Given the description of an element on the screen output the (x, y) to click on. 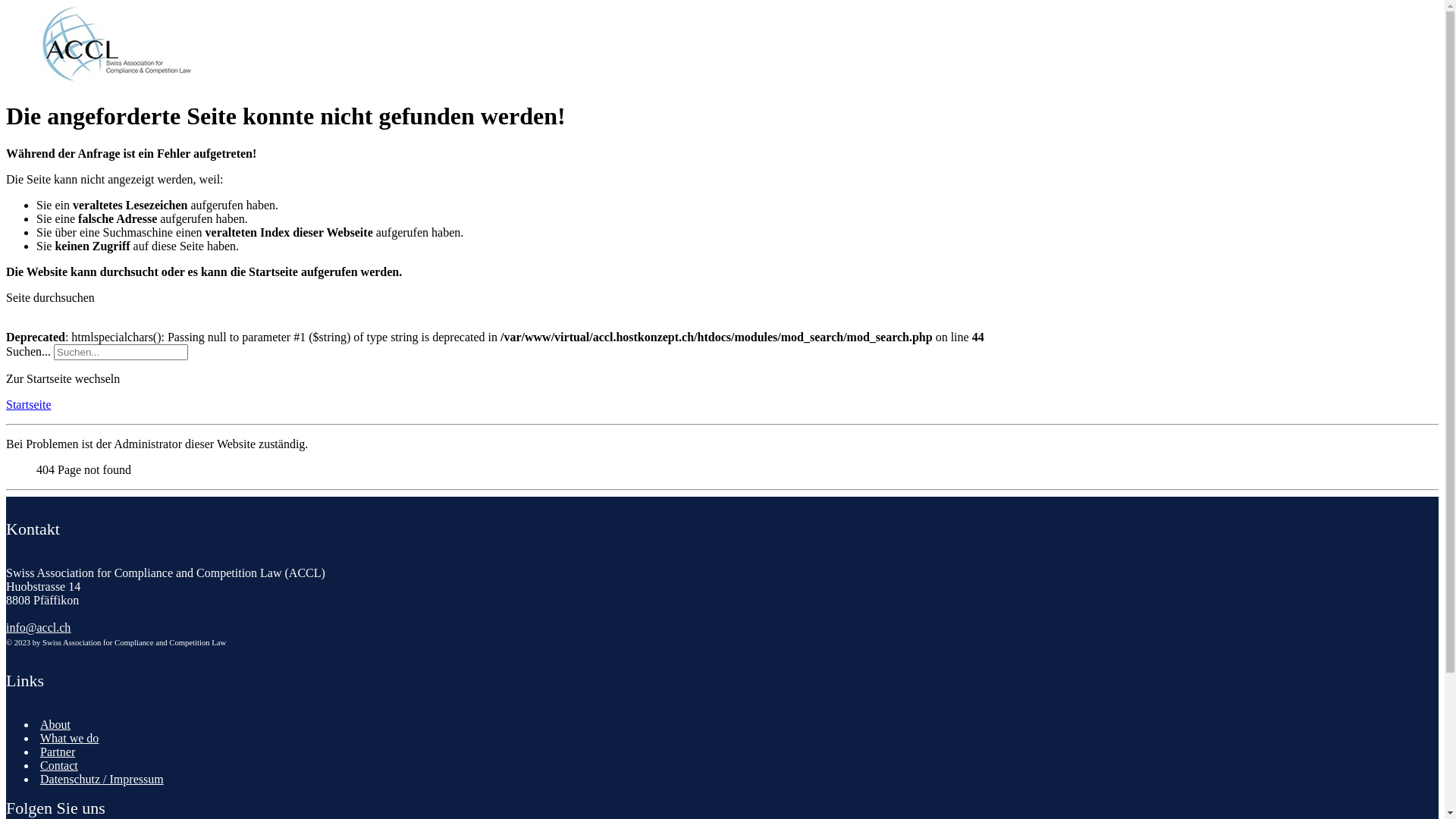
info@accl.ch Element type: text (38, 627)
What we do Element type: text (69, 737)
Startseite Element type: text (28, 404)
Contact Element type: text (58, 764)
About Element type: text (55, 723)
Datenschutz / Impressum Element type: text (101, 778)
Partner Element type: text (57, 750)
